Given the description of an element on the screen output the (x, y) to click on. 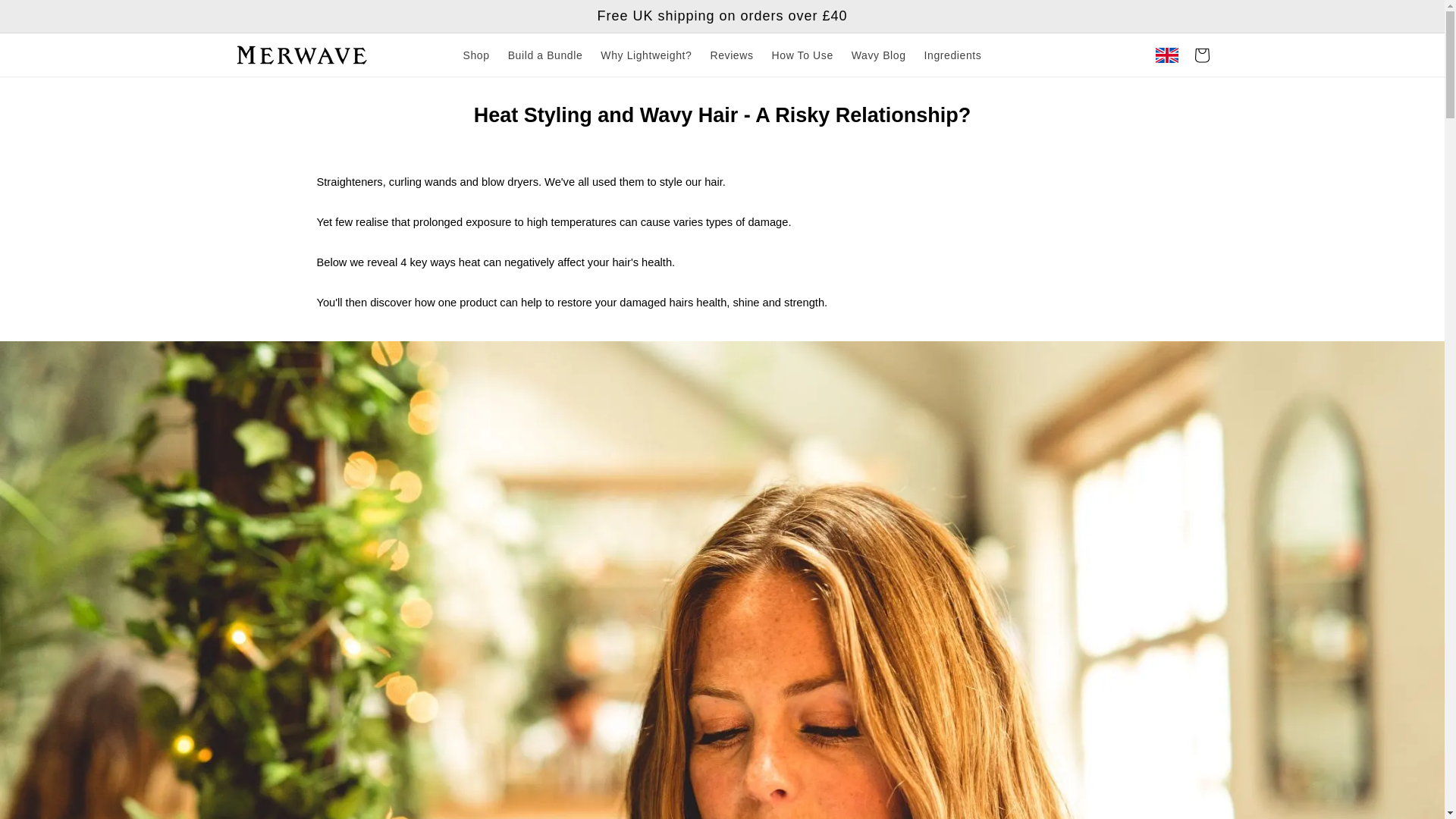
Cart (1201, 55)
Ingredients (953, 55)
Skip to content (46, 18)
Shop (476, 55)
Why Lightweight? (645, 55)
Build a Bundle (545, 55)
How To Use (802, 55)
Reviews (730, 55)
Wavy Blog (879, 55)
